Given the description of an element on the screen output the (x, y) to click on. 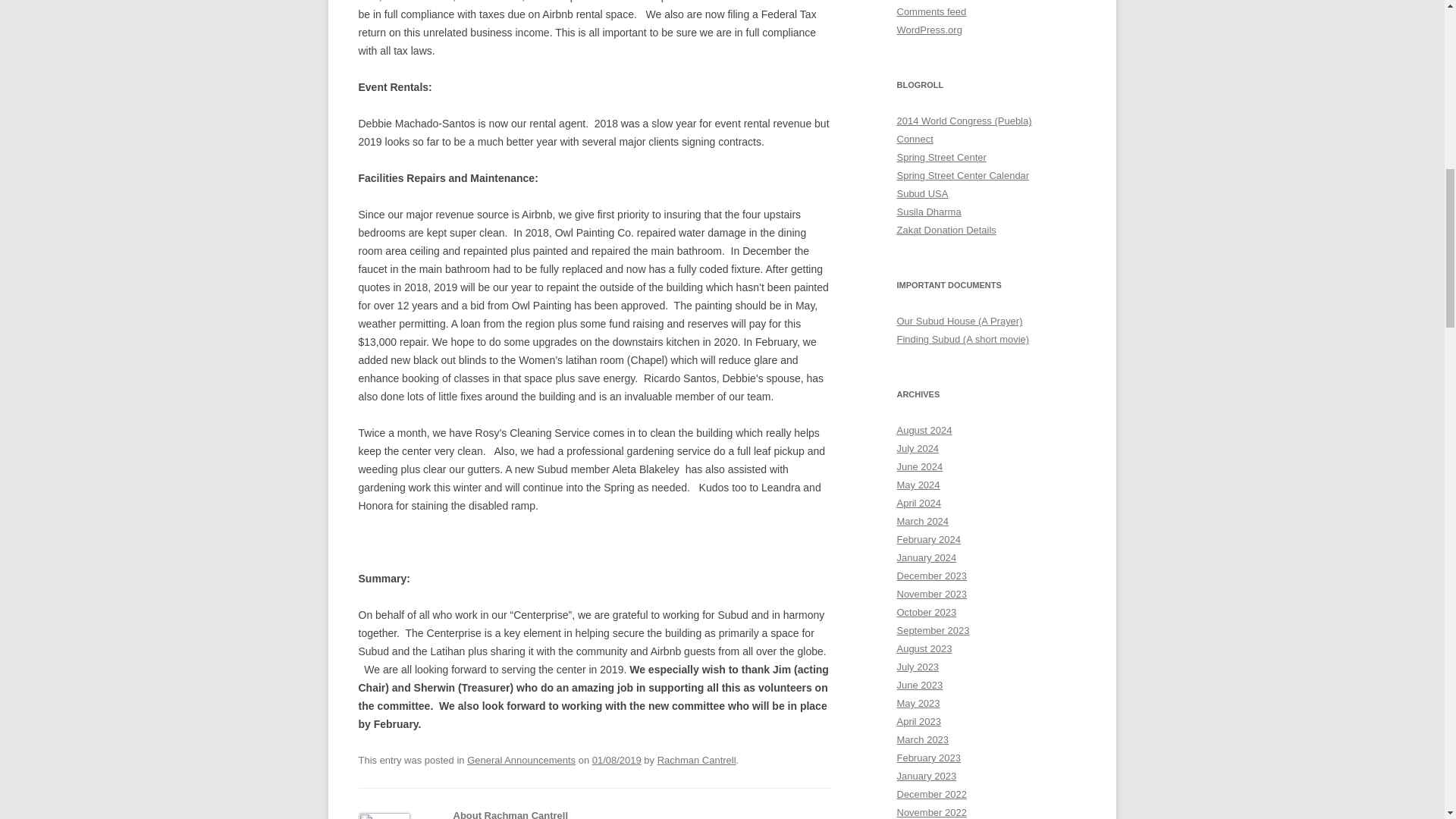
10:57 PM (617, 759)
A great way to help communities supported by SDI (945, 229)
View all posts by Rachman Cantrell (697, 759)
Rachman Cantrell (697, 759)
Subud USA Website (921, 193)
The charitable wing of Subud International (928, 211)
Comments feed (931, 11)
2014 Puebla, Mexico World Congress Website (963, 120)
